Given the description of an element on the screen output the (x, y) to click on. 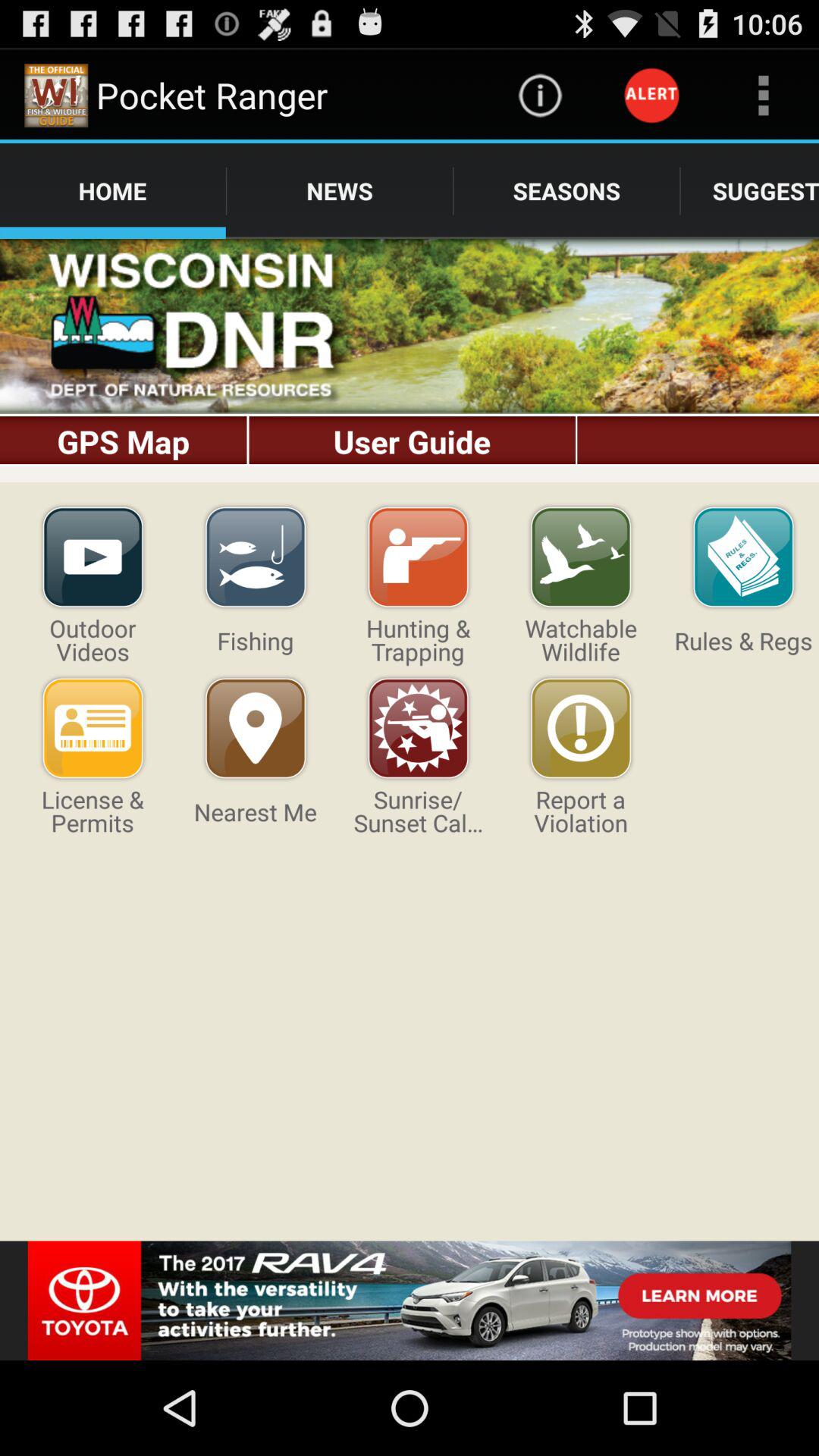
click to view add (409, 1300)
